Given the description of an element on the screen output the (x, y) to click on. 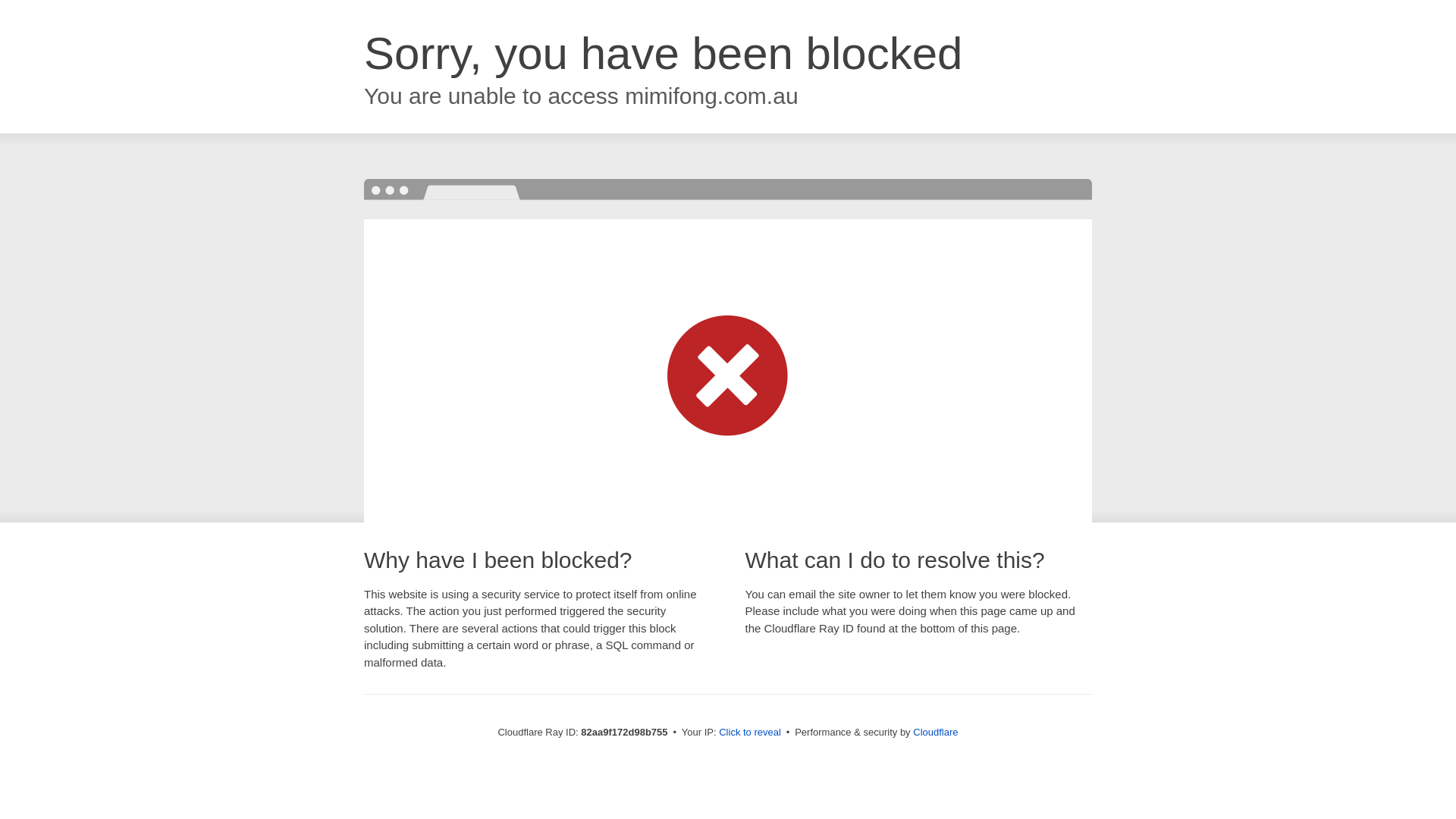
Cloudflare Element type: text (935, 731)
Click to reveal Element type: text (749, 732)
